Given the description of an element on the screen output the (x, y) to click on. 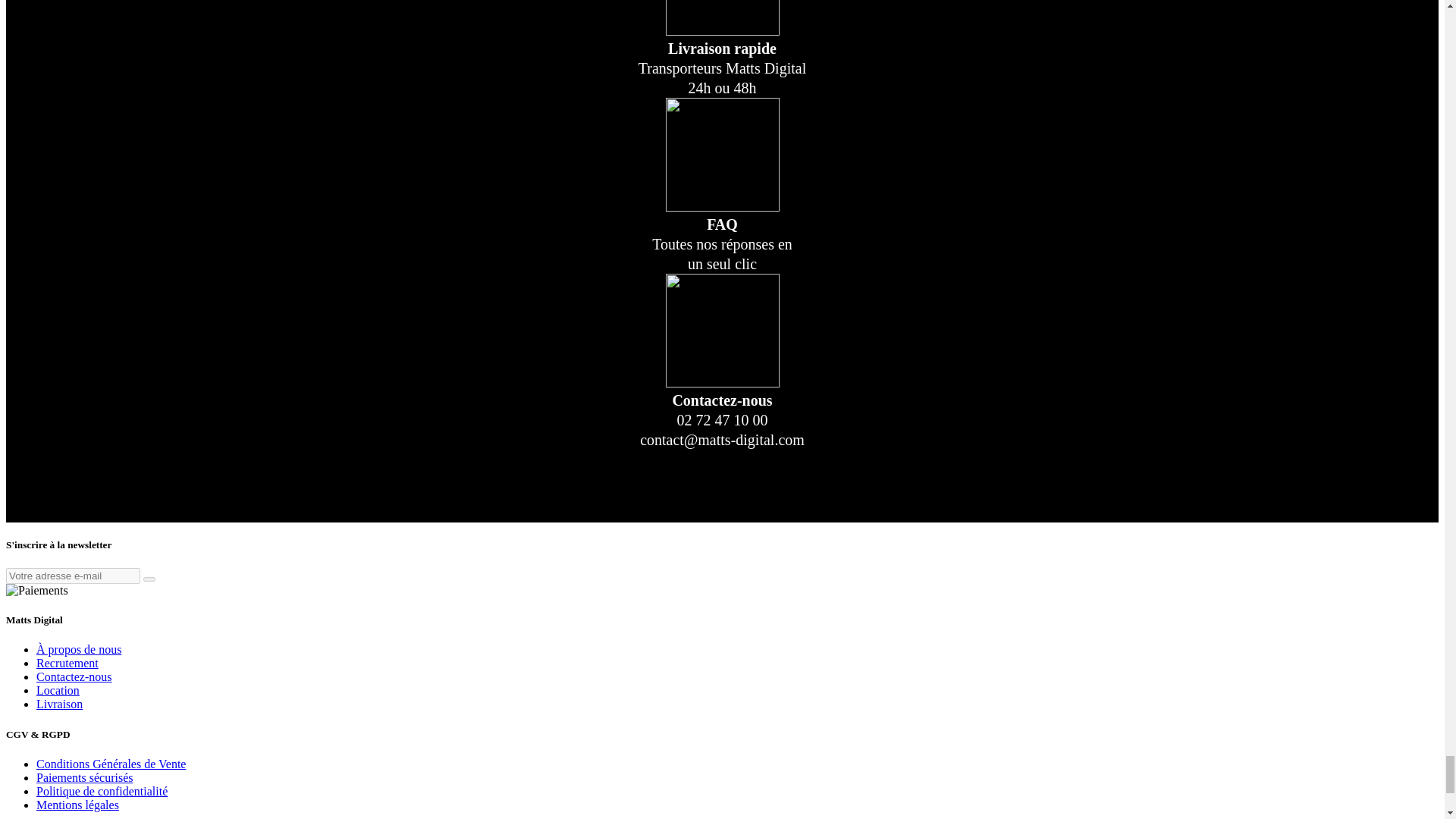
Utiliser le formulaire pour nous contacter (74, 676)
